Given the description of an element on the screen output the (x, y) to click on. 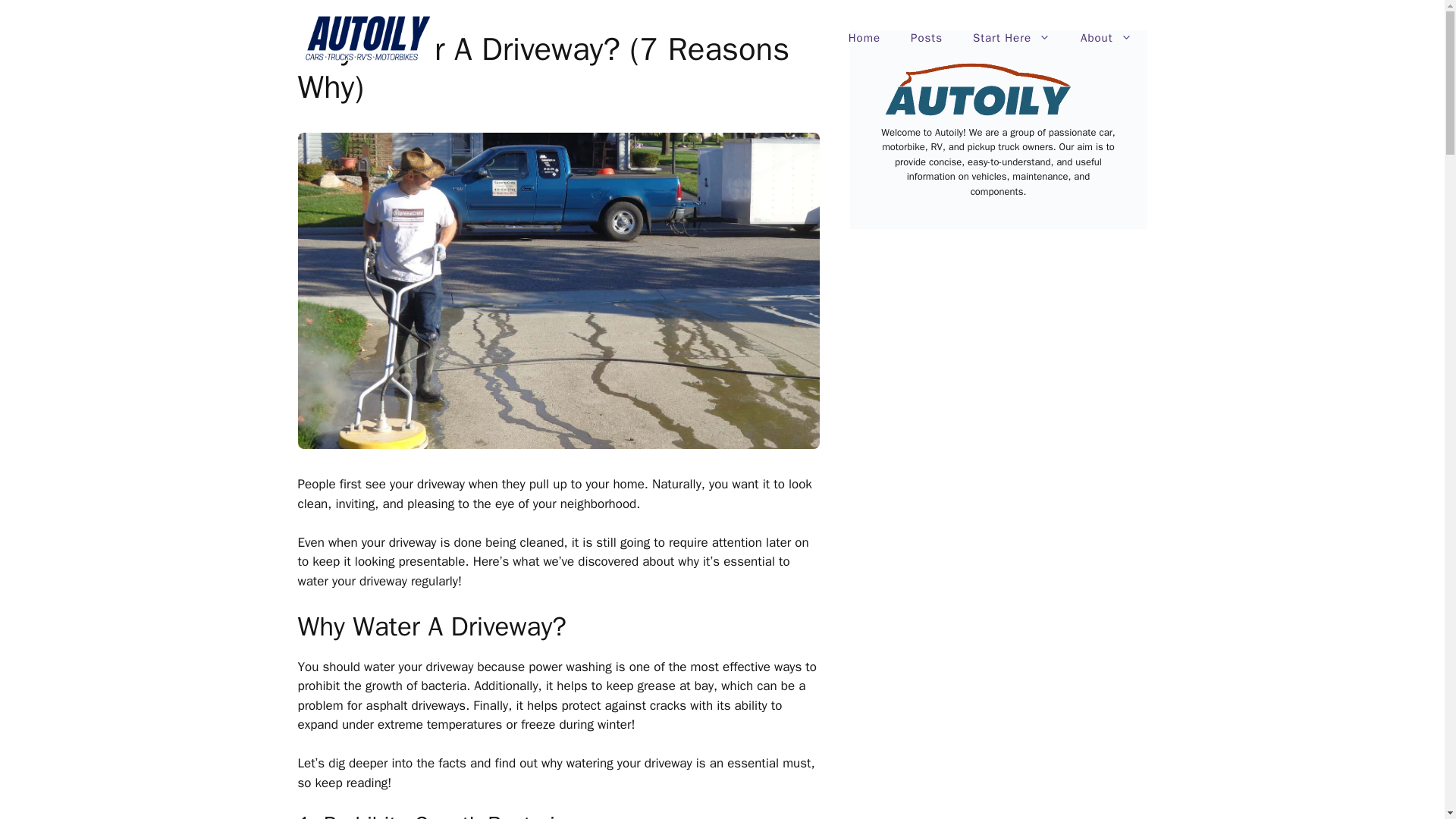
Home (863, 37)
About (1106, 37)
Start Here (1011, 37)
Posts (926, 37)
